Given the description of an element on the screen output the (x, y) to click on. 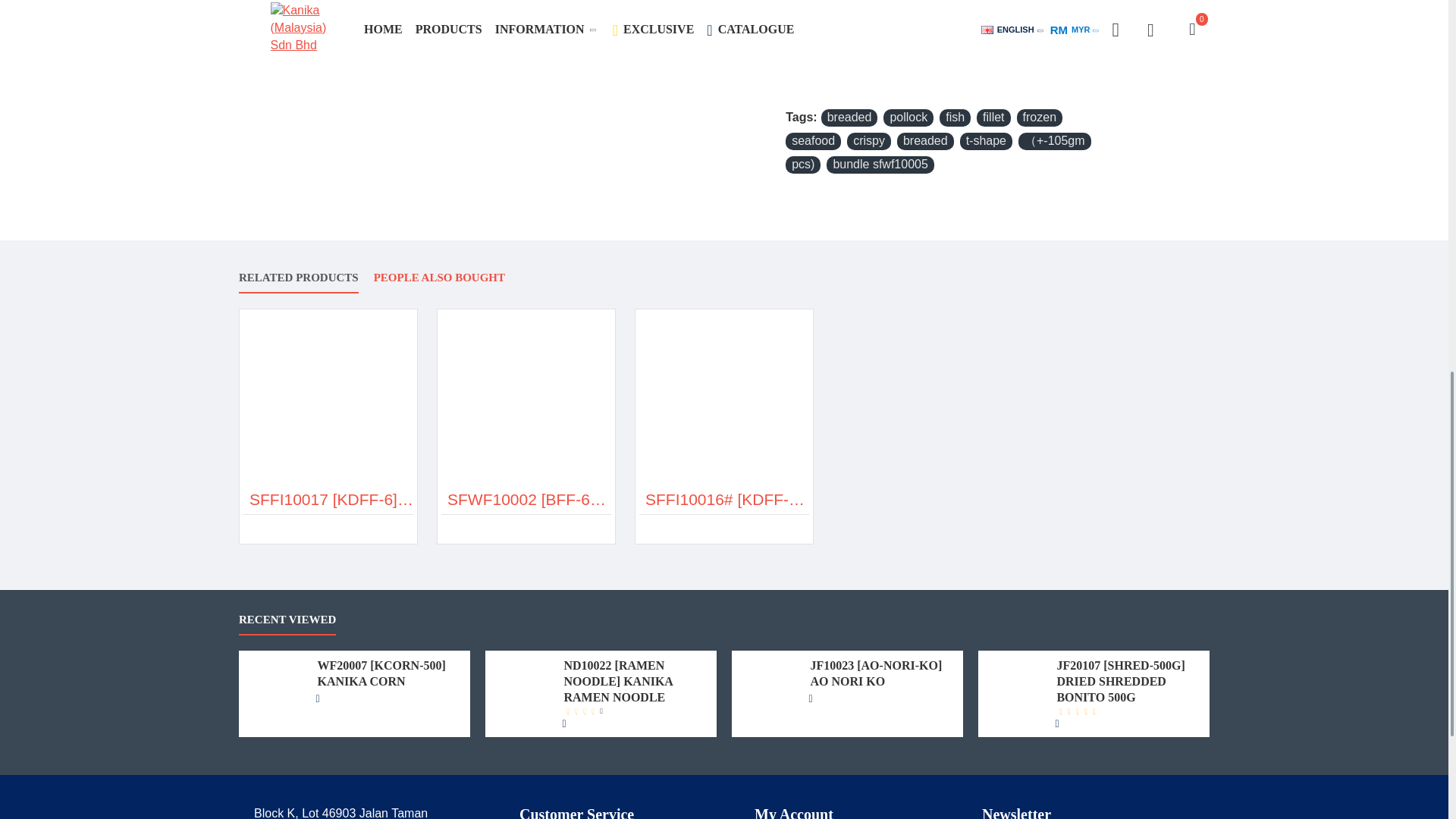
1 (807, 4)
